Given the description of an element on the screen output the (x, y) to click on. 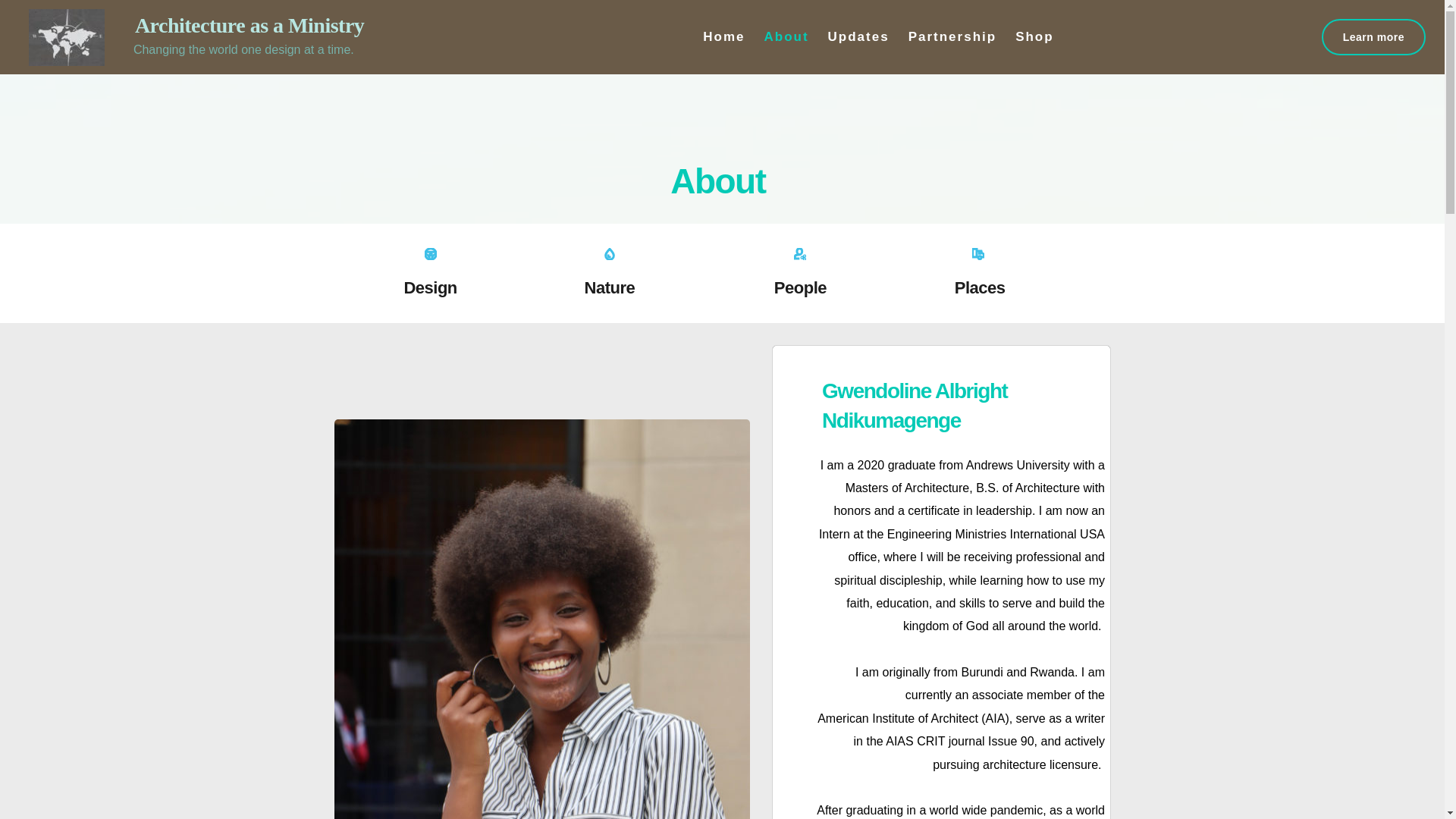
About (786, 37)
Home (723, 37)
Shop (1034, 37)
Partnership (952, 37)
Learn more (1373, 36)
Updates (858, 37)
